Given the description of an element on the screen output the (x, y) to click on. 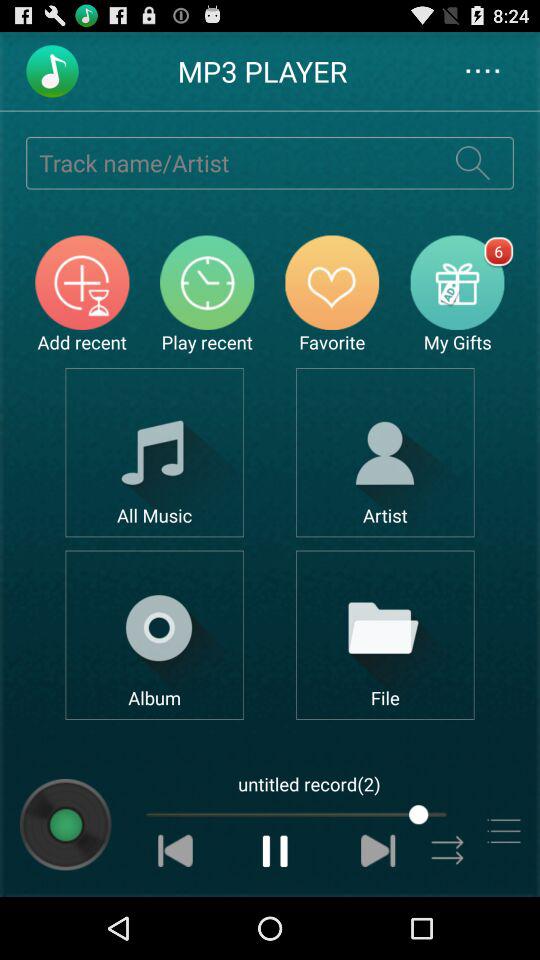
submit search (472, 162)
